Given the description of an element on the screen output the (x, y) to click on. 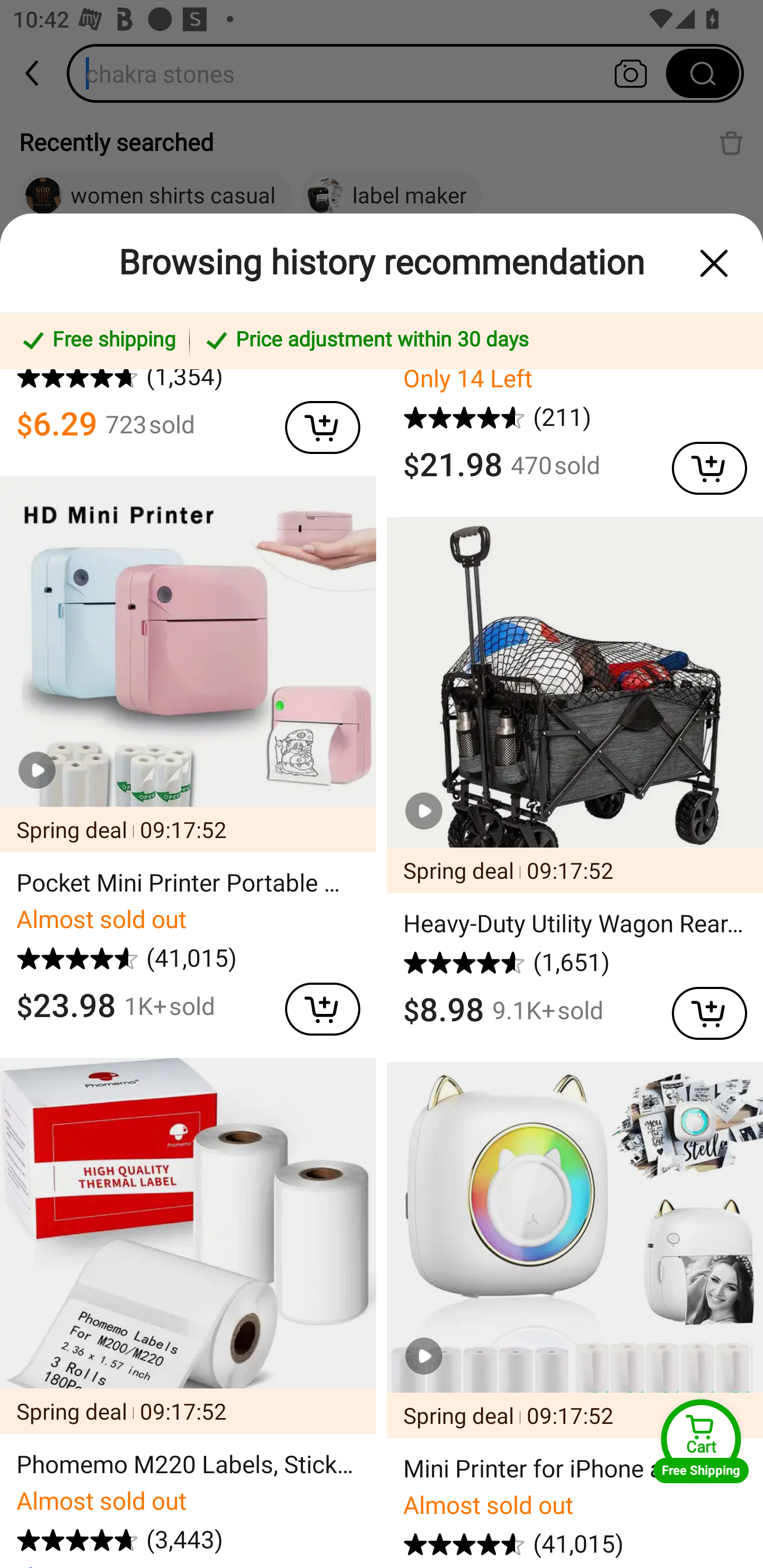
 (714, 263)
Free shipping (97, 340)
Price adjustment within 30 days (472, 340)
      (1,354) $6.29 723 sold  (188, 405)
Only 14 Left       (211) $21.98 470 sold  (574, 426)
 (314, 422)
 (700, 463)
 (314, 1004)
 (700, 1008)
Cart Free Shipping Cart (701, 1440)
